Given the description of an element on the screen output the (x, y) to click on. 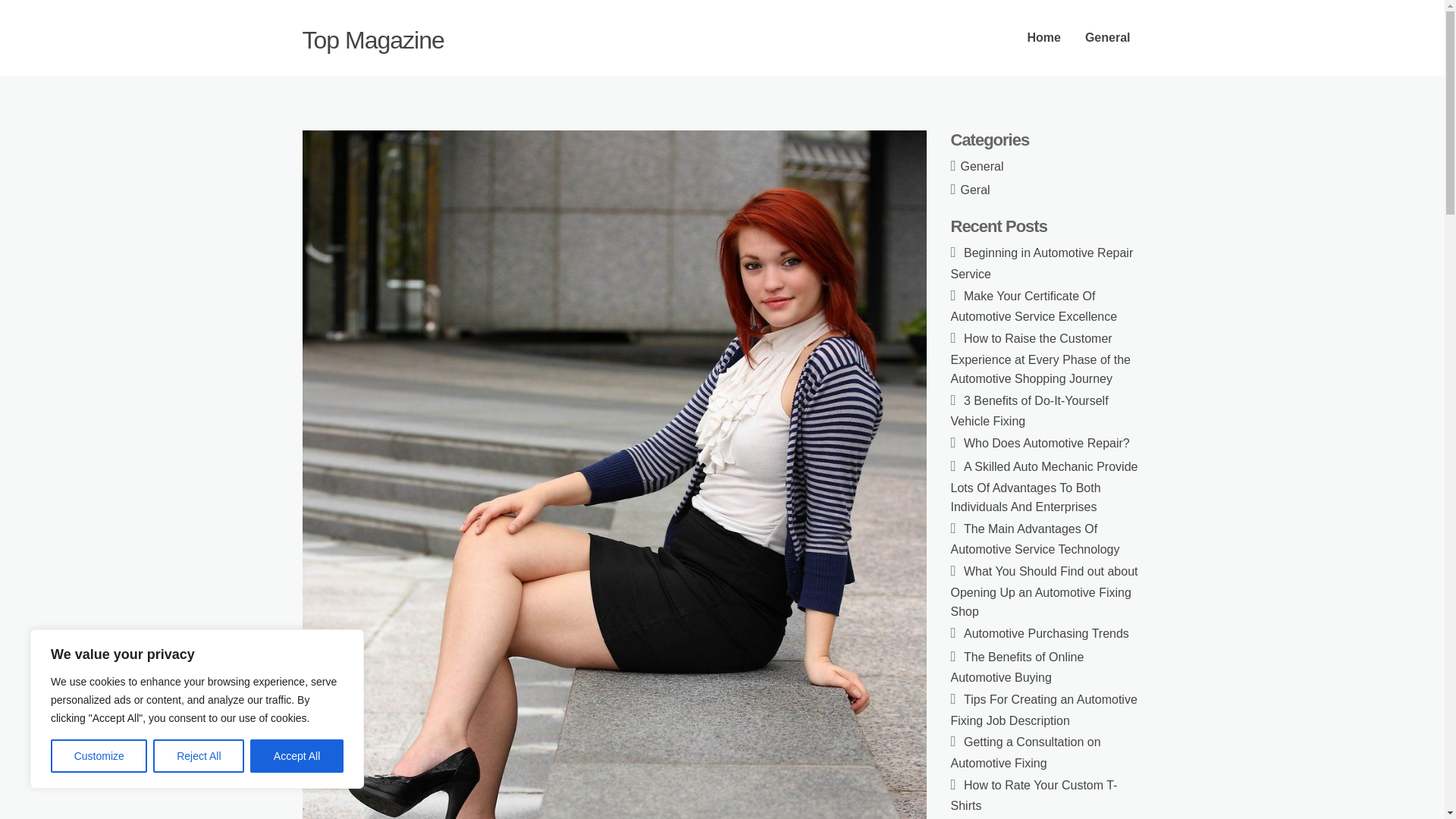
Home (1042, 37)
Accept All (296, 756)
General (1107, 37)
Top Magazine (372, 39)
Customize (98, 756)
Beginning in Automotive Repair Service (1042, 263)
General (982, 165)
Reject All (198, 756)
Geral (975, 189)
Make Your Certificate Of Automotive Service Excellence (1034, 306)
